Given the description of an element on the screen output the (x, y) to click on. 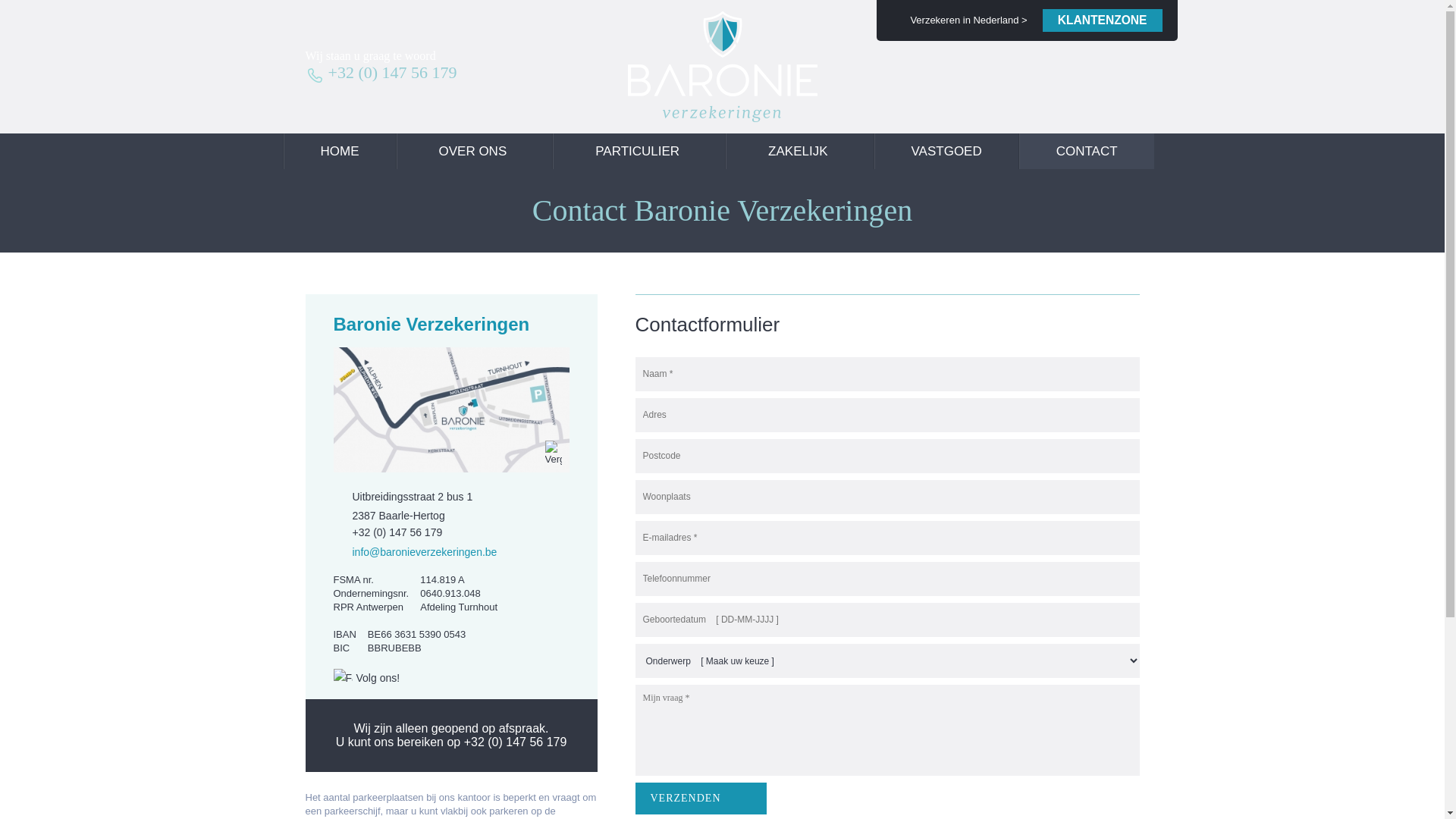
Volg ons! Element type: text (364, 677)
ZAKELIJK Element type: text (798, 151)
VASTGOED Element type: text (946, 151)
OVER ONS Element type: text (473, 151)
KLANTENZONE Element type: text (1102, 20)
CONTACT Element type: text (1086, 151)
PARTICULIER Element type: text (638, 151)
Verzekeren in Nederland > Element type: text (966, 20)
HOME Element type: text (339, 151)
0 Element type: text (19, 17)
Verzenden Element type: text (700, 798)
info@baronieverzekeringen.be Element type: text (415, 551)
